Given the description of an element on the screen output the (x, y) to click on. 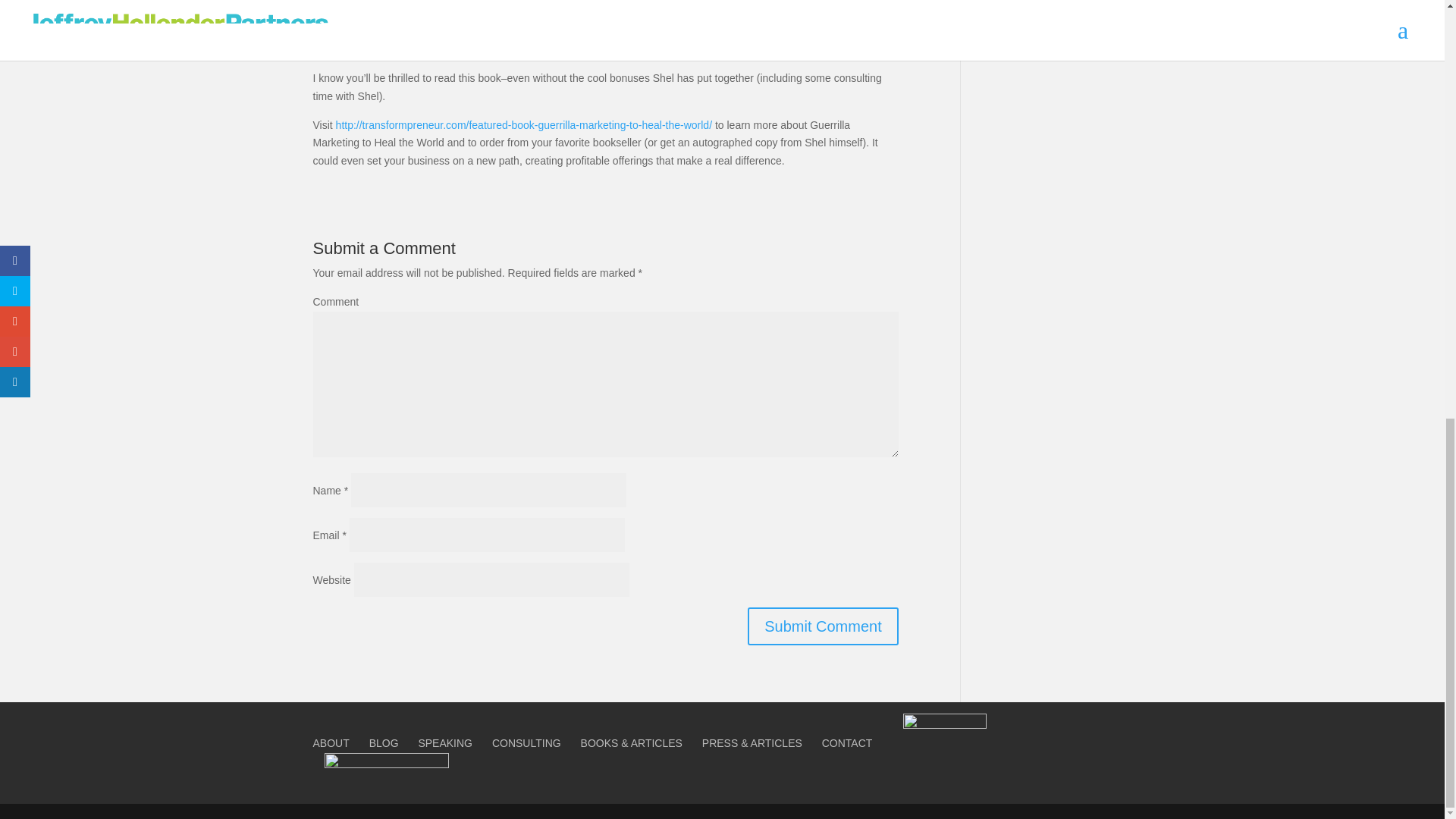
CONSULTING (526, 743)
ABOUT (331, 743)
Submit Comment (823, 626)
BLOG (383, 743)
Submit Comment (823, 626)
SPEAKING (444, 743)
CONTACT (847, 743)
